Given the description of an element on the screen output the (x, y) to click on. 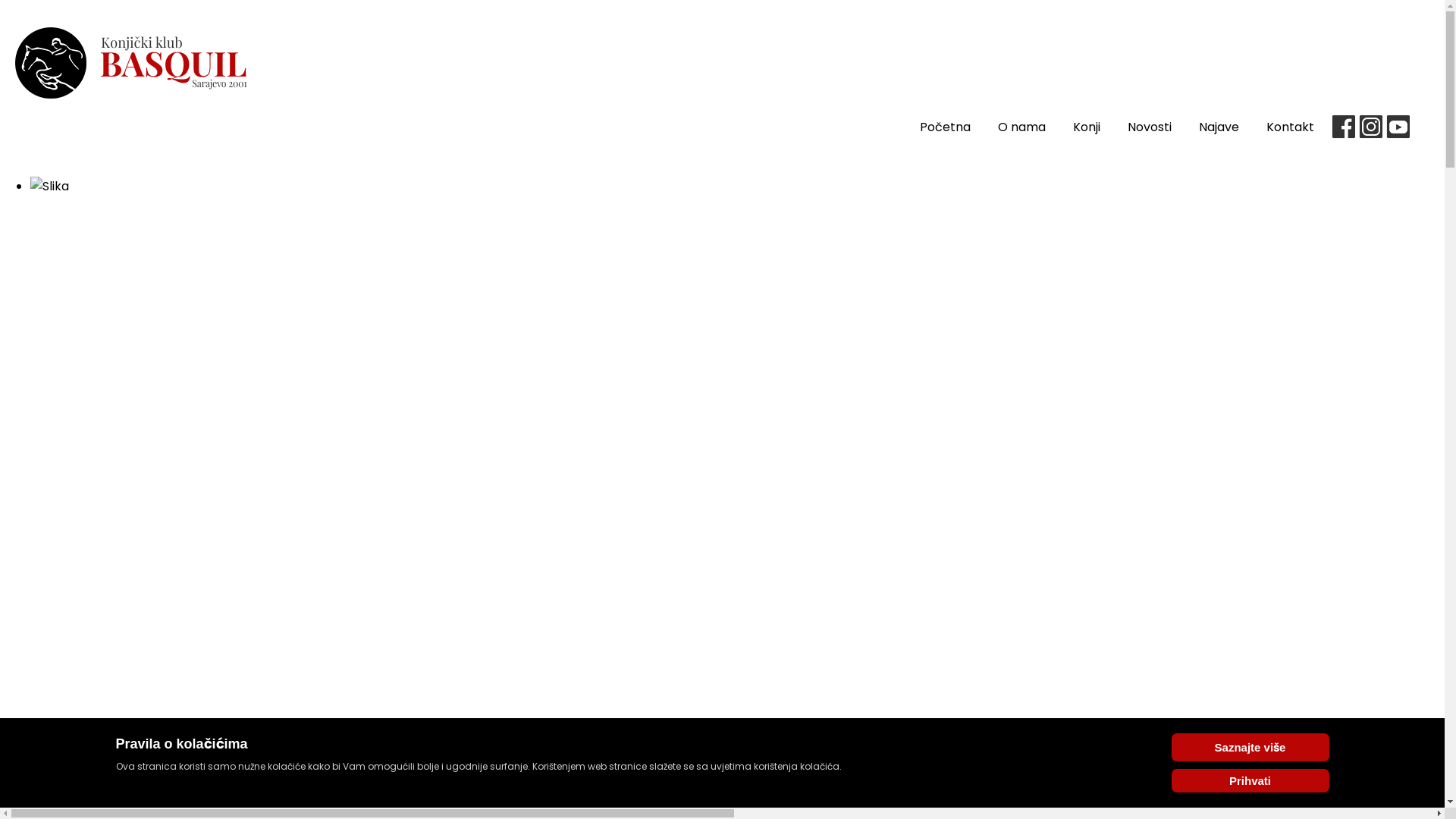
O nama Element type: text (1021, 126)
Prihvati Element type: text (1249, 780)
Najave Element type: text (1218, 126)
Kontakt Element type: text (1289, 126)
Novosti Element type: text (1149, 126)
Konji Element type: text (1086, 126)
